Given the description of an element on the screen output the (x, y) to click on. 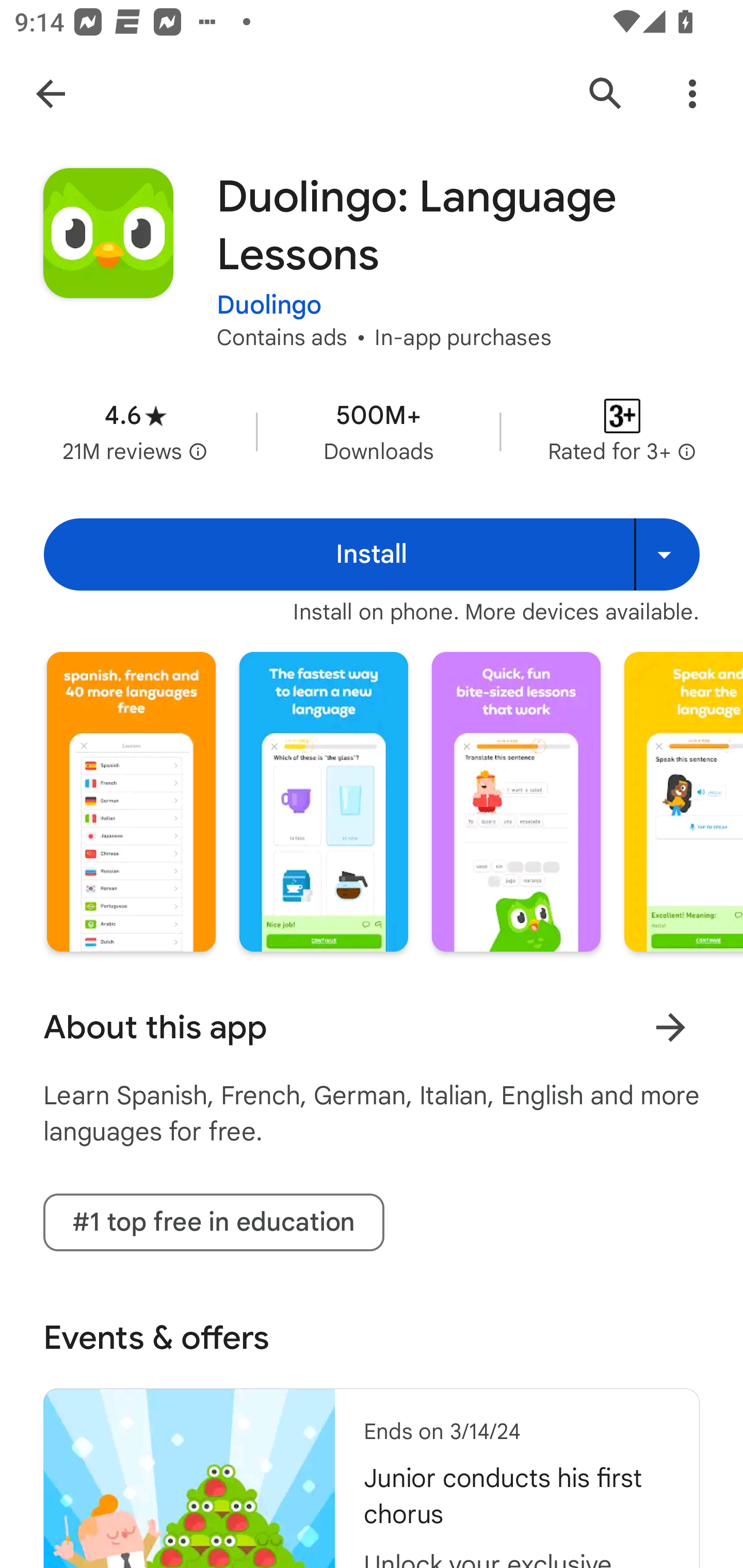
Navigate up (50, 93)
Search Google Play (605, 93)
More Options (692, 93)
Duolingo (268, 292)
Average rating 4.6 stars in 21 million reviews (135, 431)
Content rating Rated for 3+ (622, 431)
Install Install Install on more devices (371, 554)
Install on more devices (667, 554)
Screenshot "1" of "6" (130, 801)
Screenshot "2" of "6" (323, 801)
Screenshot "3" of "6" (515, 801)
Screenshot "4" of "6" (683, 801)
About this app Learn more About this app (371, 1027)
Learn more About this app (670, 1027)
#1 top free in education tag (213, 1222)
